Given the description of an element on the screen output the (x, y) to click on. 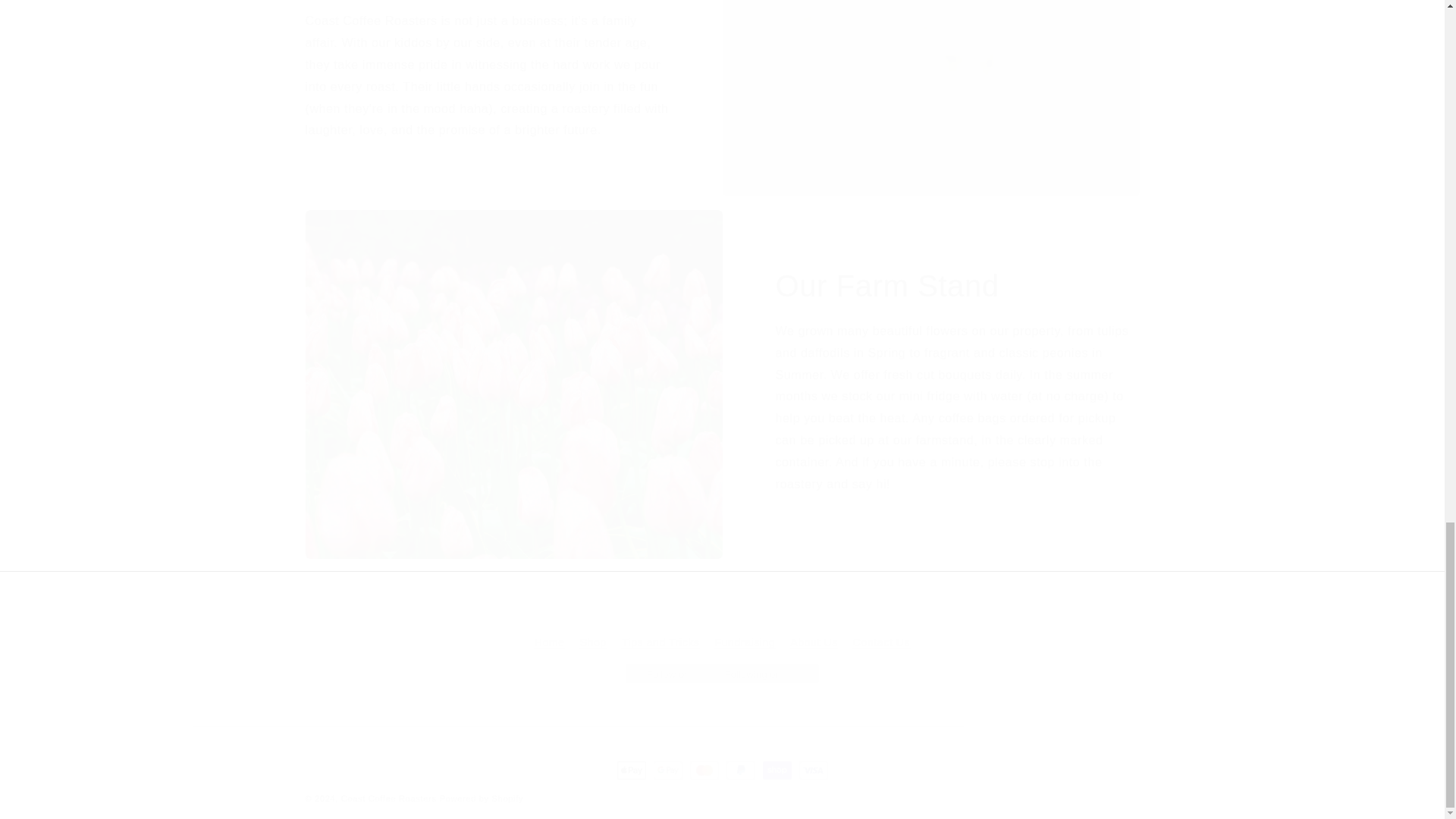
Home Shop Tips and Tricks Fundraising About Us Contact Us (721, 642)
Shop (593, 642)
Home (549, 644)
Contact Us (881, 642)
Powered by Shopify (480, 798)
About Us (813, 642)
Home Shop Tips and Tricks Fundraising About Us Contact Us (721, 627)
Fundraising (745, 642)
Coast Coffee Roasters (388, 798)
Tips and Tricks (660, 642)
